Given the description of an element on the screen output the (x, y) to click on. 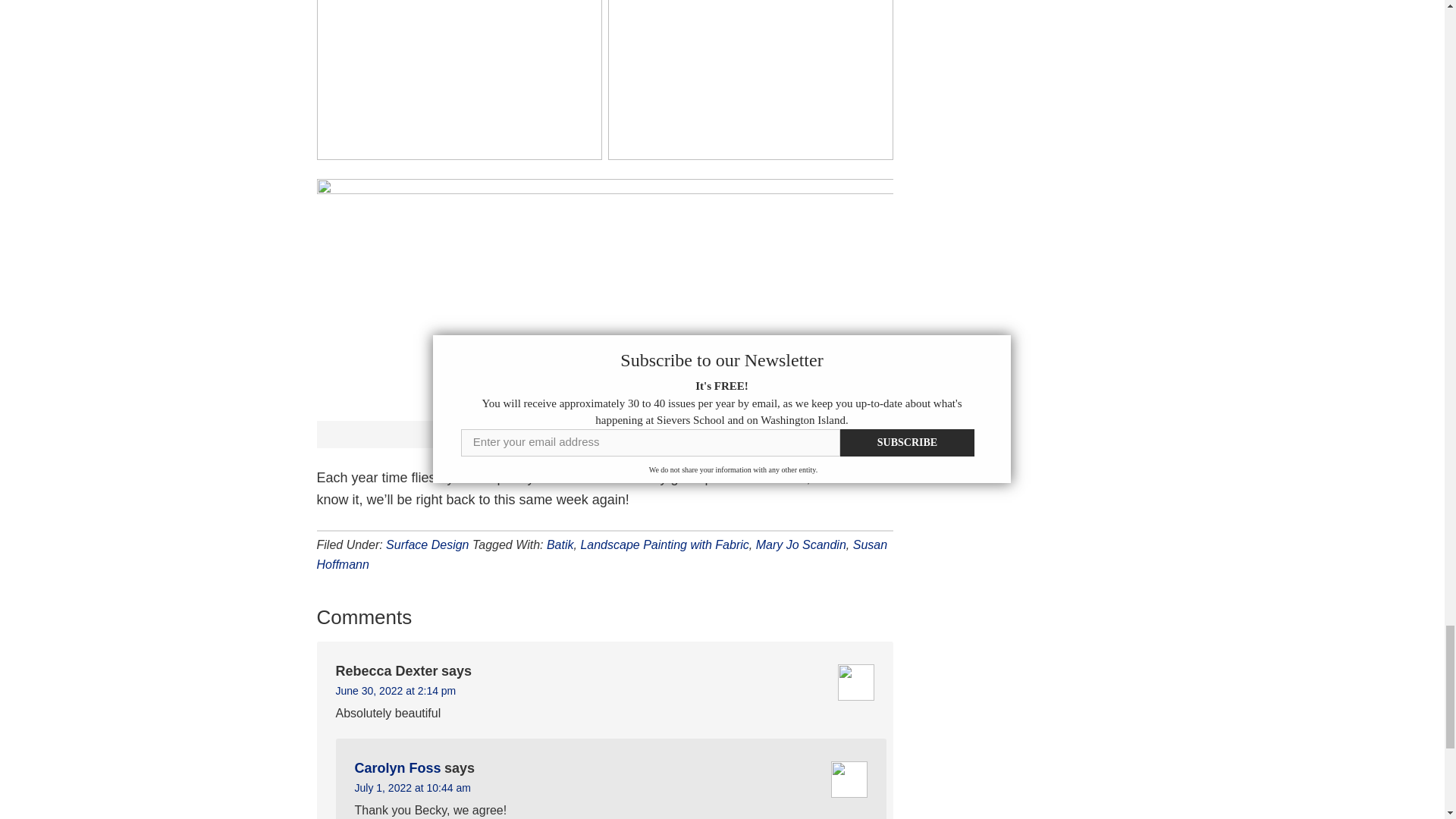
Susan Hoffmann (602, 554)
Mary Jo Scandin (800, 544)
Carolyn Foss (398, 767)
July 1, 2022 at 10:44 am (412, 787)
Batik (560, 544)
Landscape Painting with Fabric (663, 544)
June 30, 2022 at 2:14 pm (394, 690)
Surface Design (426, 544)
